Given the description of an element on the screen output the (x, y) to click on. 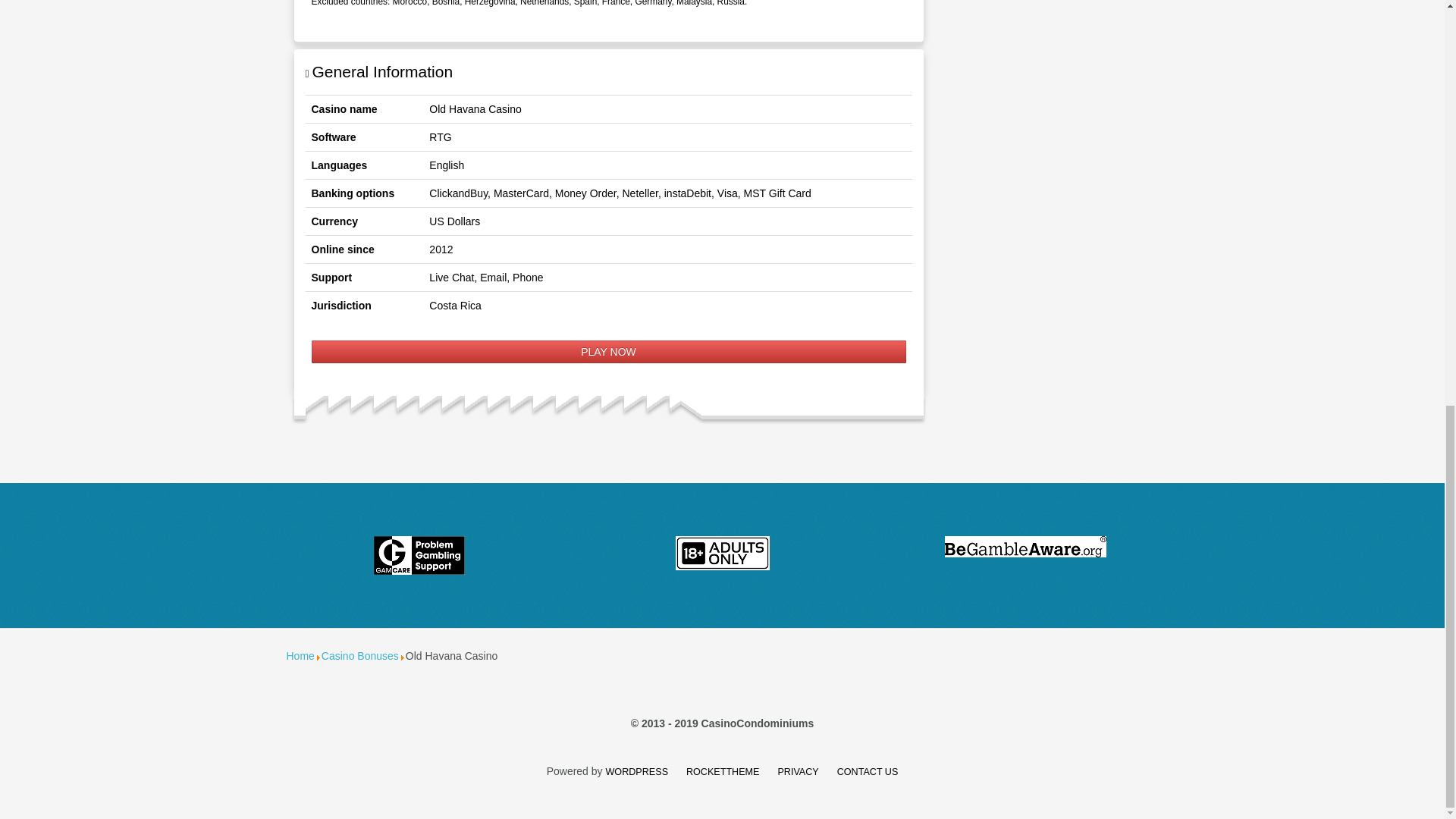
PLAY NOW (608, 351)
Home (300, 655)
Casino Bonuses (359, 655)
Home (300, 655)
